Given the description of an element on the screen output the (x, y) to click on. 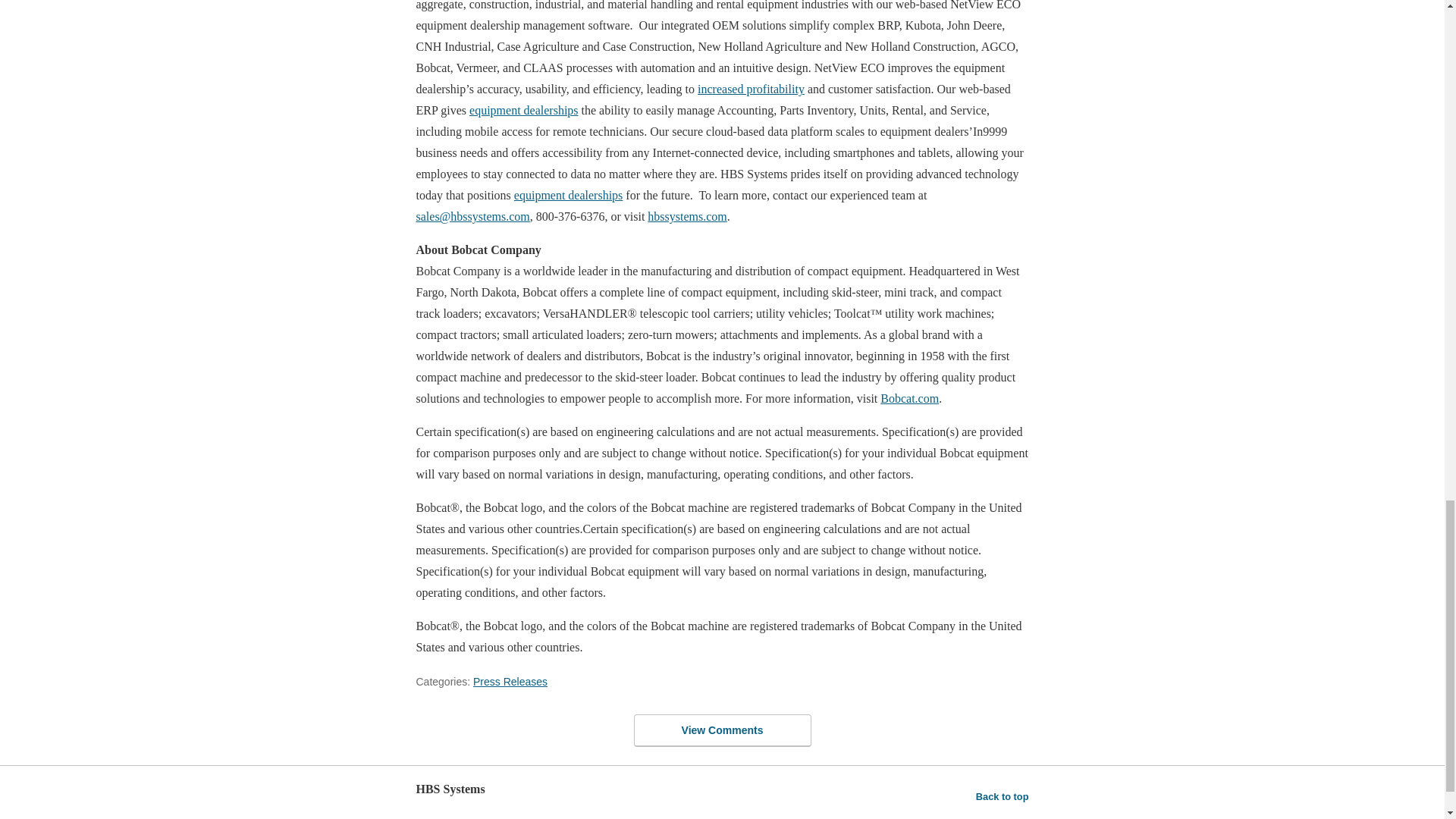
equipment dealerships (568, 195)
Back to top (1002, 796)
equipment dealerships (523, 110)
Bobcat.com (909, 398)
Press Releases (510, 681)
increased profitability (751, 88)
View Comments (721, 730)
hbssystems.com (686, 215)
